Given the description of an element on the screen output the (x, y) to click on. 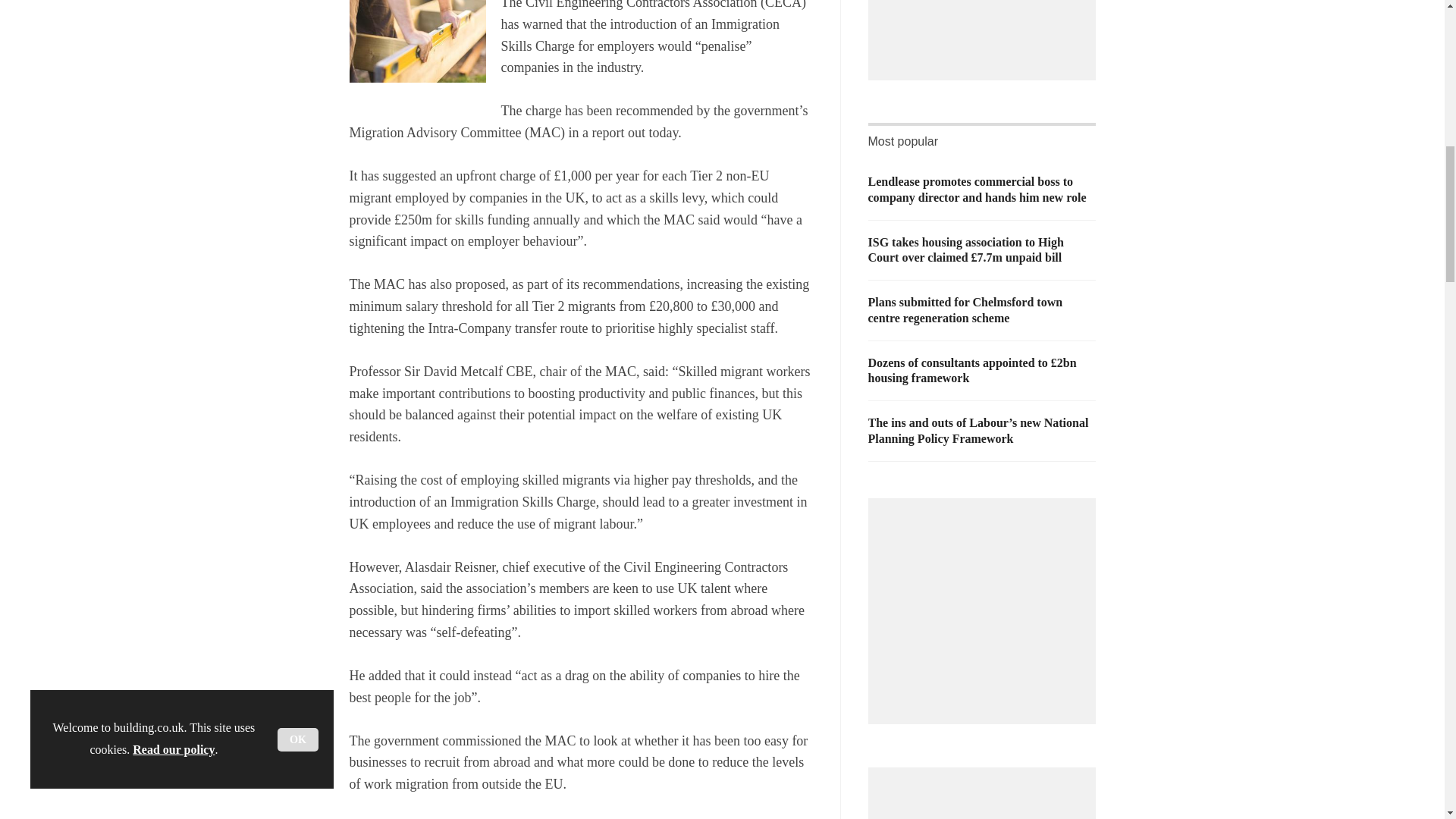
3rd party ad content (985, 798)
3rd party ad content (985, 603)
3rd party ad content (985, 27)
